Given the description of an element on the screen output the (x, y) to click on. 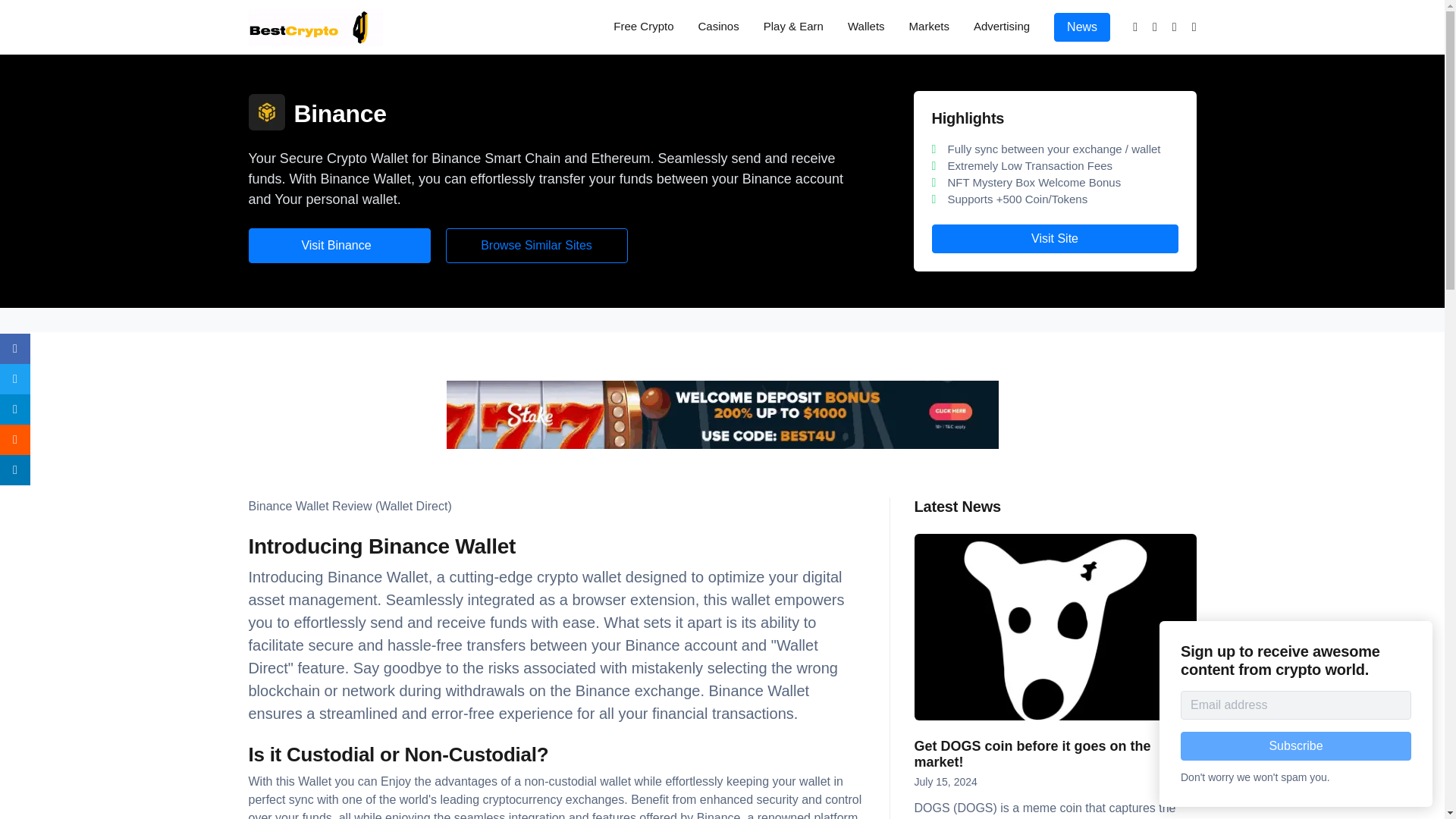
Visit Binance (339, 245)
Free Crypto (643, 27)
News (1081, 27)
Advertising (1001, 27)
Browse Similar Sites (536, 245)
Visit Site (1054, 238)
Advertising (1001, 27)
Markets (928, 27)
Casinos (718, 27)
Subscribe (1295, 746)
Wallets (865, 27)
Wallets (865, 27)
Markets (928, 27)
News (1081, 27)
Casinos (718, 27)
